Given the description of an element on the screen output the (x, y) to click on. 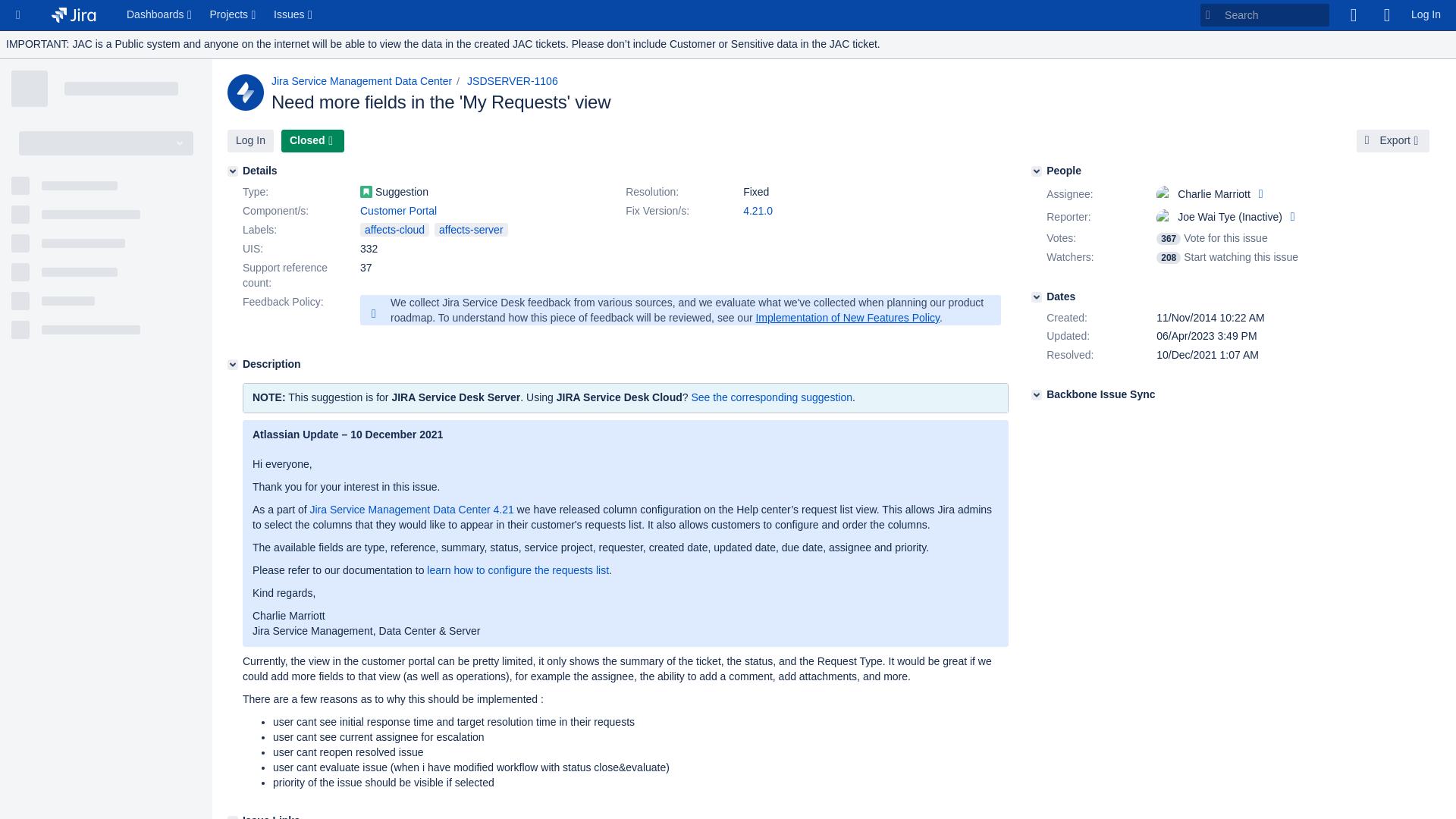
Help (1386, 15)
Log In (250, 140)
affects-server (470, 229)
Give feedback to Atlassian (1353, 15)
See the corresponding suggestion (770, 397)
Log In (1425, 15)
learn how to configure the requests list (517, 570)
JSDSERVER-1106 (512, 80)
Jira Service Management Data Center (360, 80)
Search for issues and view recent issues (293, 15)
